Given the description of an element on the screen output the (x, y) to click on. 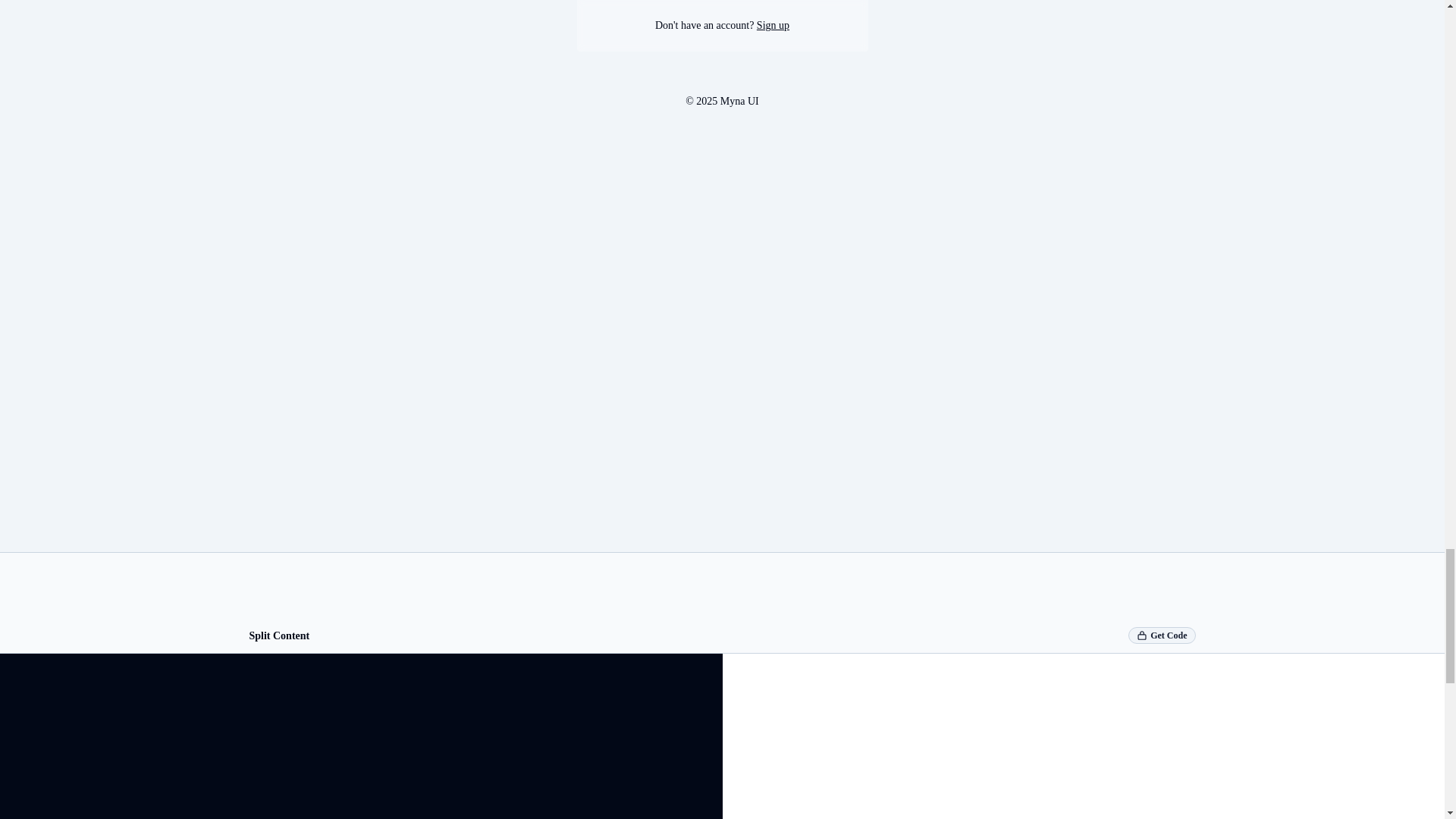
Get Code (1161, 635)
Sign up (773, 25)
Split Content (278, 635)
